Given the description of an element on the screen output the (x, y) to click on. 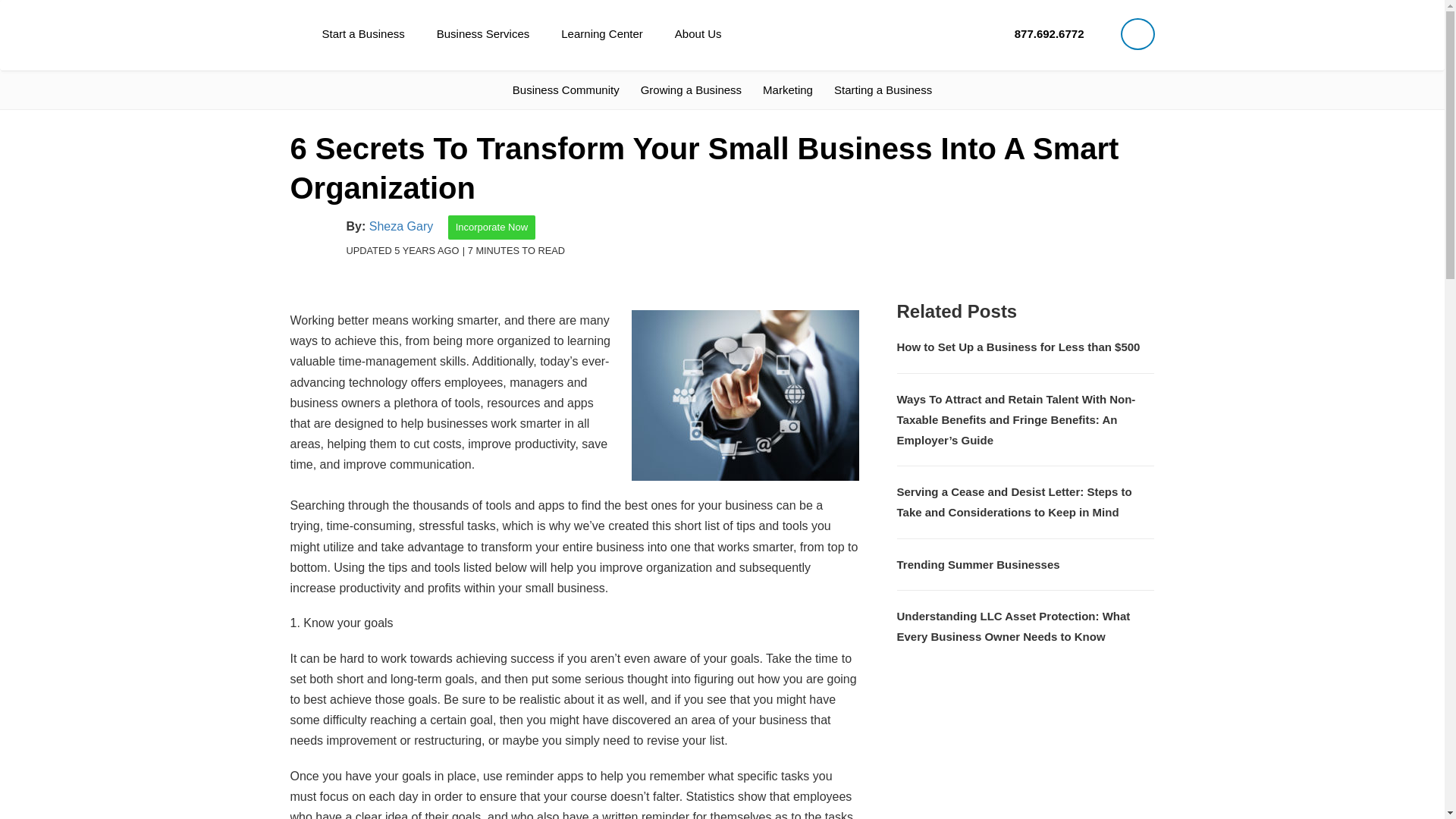
Business Services (483, 33)
Posts by Sheza Gary (400, 226)
Start a Business (362, 33)
